Given the description of an element on the screen output the (x, y) to click on. 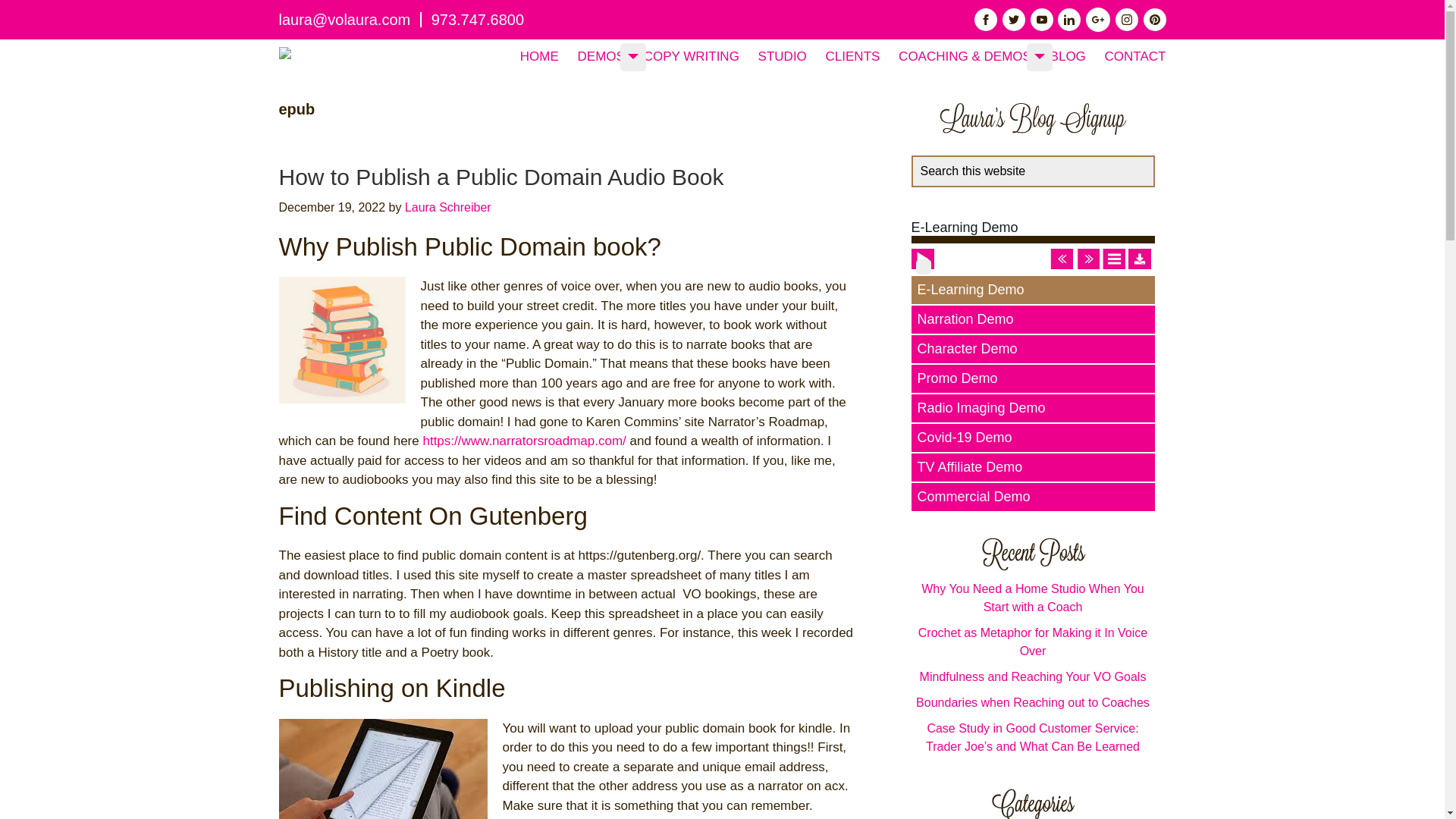
Search (1160, 163)
COPY WRITING (691, 56)
Play (923, 266)
Youtube (1041, 19)
Submenu (1039, 56)
Submenu (633, 56)
Instagram (1126, 19)
HOME (539, 56)
facebook (985, 19)
twitter (1014, 19)
CLIENTS (852, 56)
Linkedin (1069, 19)
Laura Schreiber Voiceovers Recent Post (1031, 553)
DEMOS (601, 56)
973.747.6800 (477, 19)
